Given the description of an element on the screen output the (x, y) to click on. 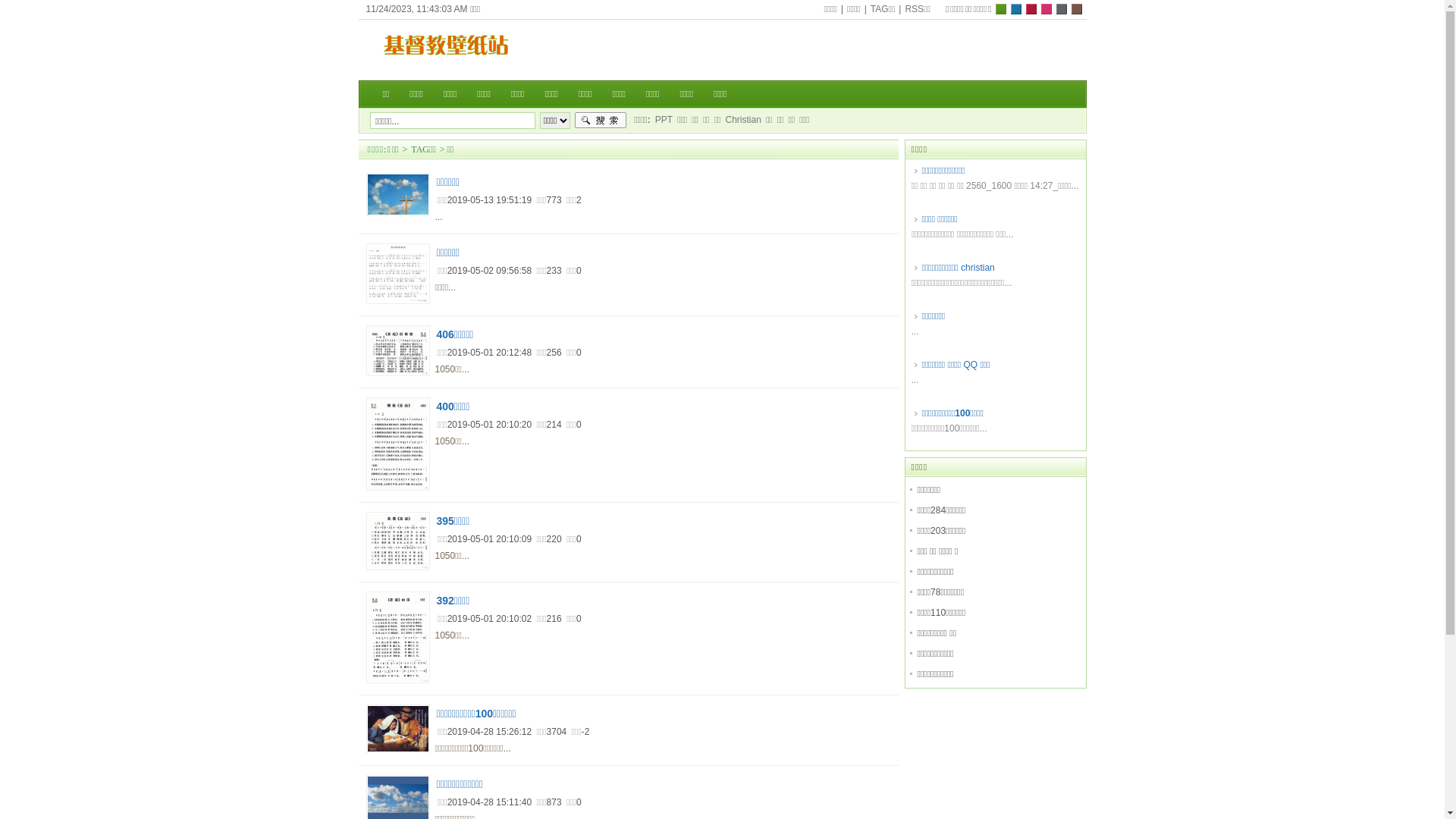
PPT Element type: text (663, 119)
Christian Element type: text (743, 119)
